Given the description of an element on the screen output the (x, y) to click on. 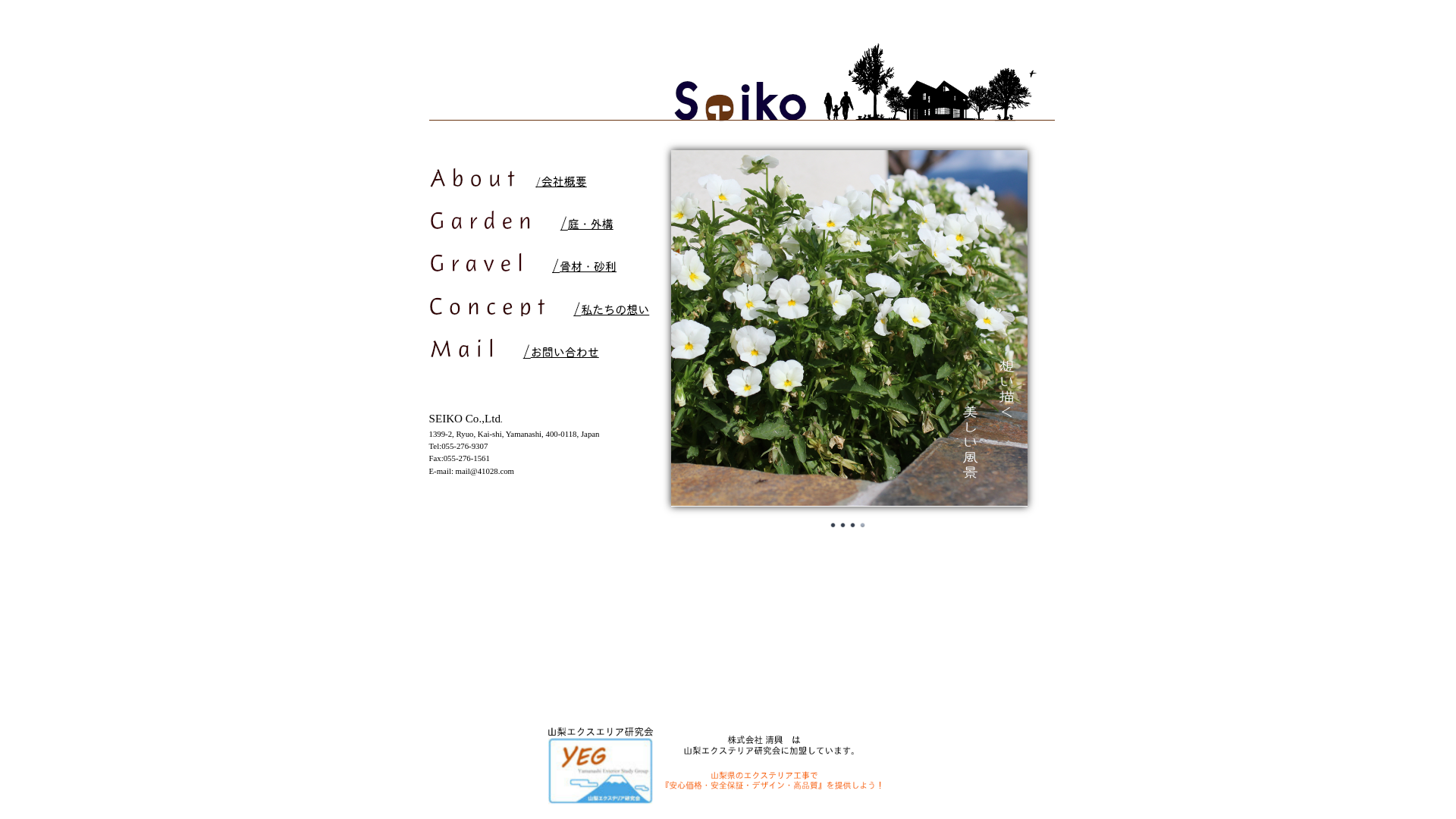
3 Element type: text (852, 525)
1 Element type: text (833, 525)
2 Element type: text (842, 525)
4 Element type: text (862, 525)
